Given the description of an element on the screen output the (x, y) to click on. 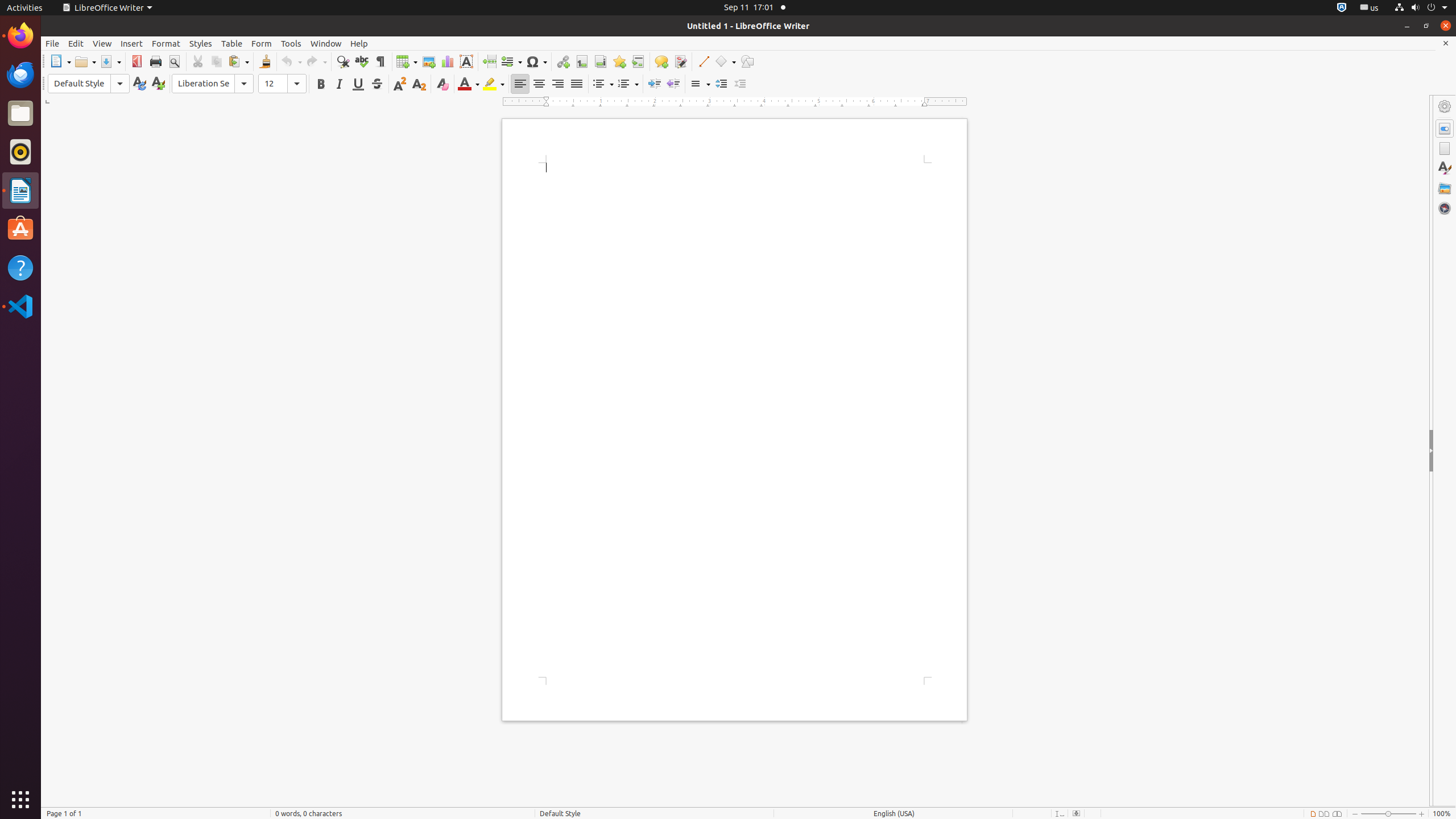
Font Size Element type: panel (282, 83)
Page Element type: radio-button (1444, 148)
Properties Element type: panel (1444, 450)
Form Element type: menu (261, 43)
